Given the description of an element on the screen output the (x, y) to click on. 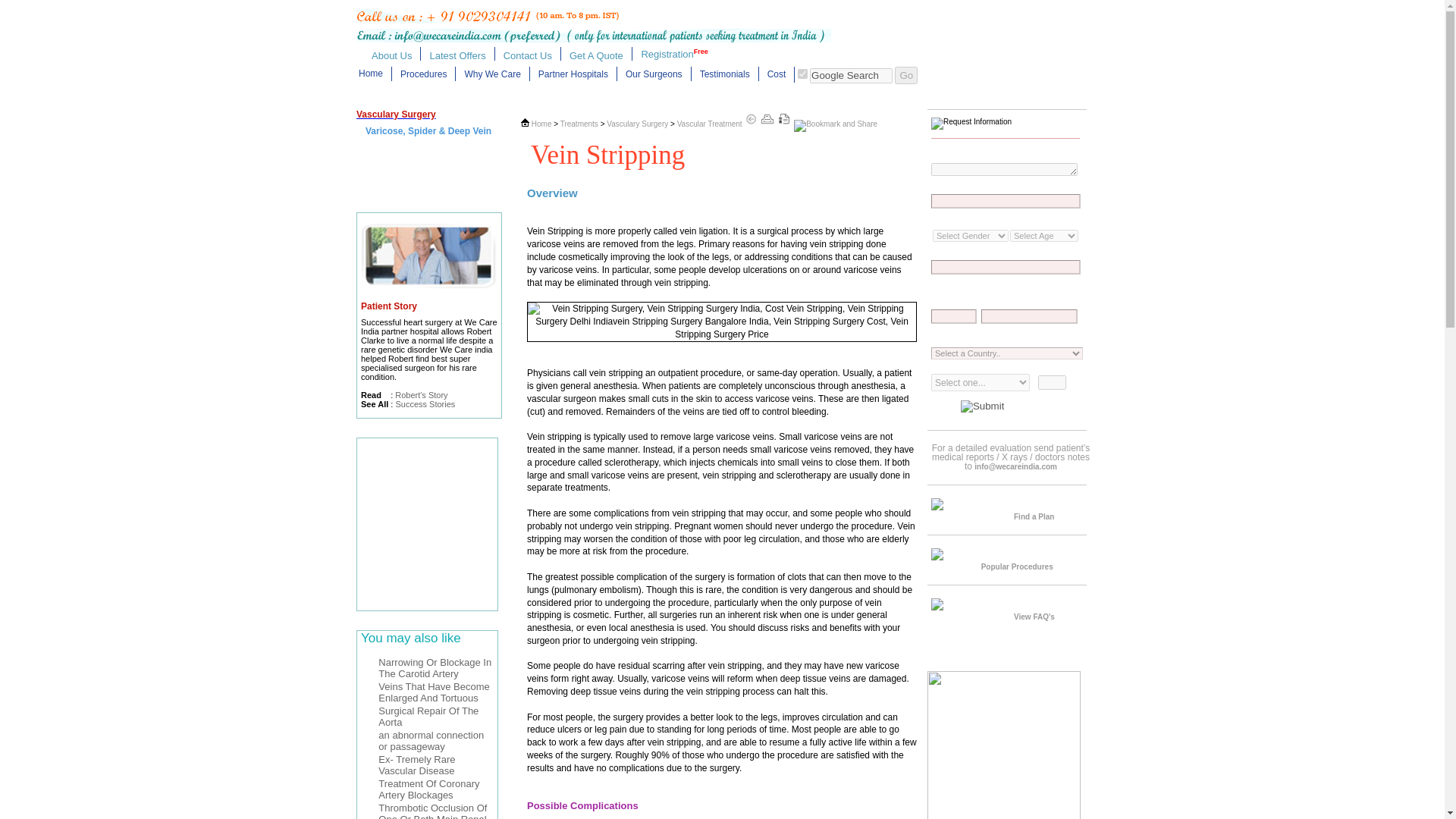
Vasculary Surgery (638, 123)
Home (542, 123)
Narrowing Or Blockage In The Carotid Artery (435, 667)
Go (906, 75)
Why We Care (491, 73)
indiahealthtour.com (802, 73)
Success Stories (424, 403)
Testimonials (724, 73)
Our Surgeons (654, 73)
Veins That Have Become Enlarged And Tortuous (433, 691)
